Given the description of an element on the screen output the (x, y) to click on. 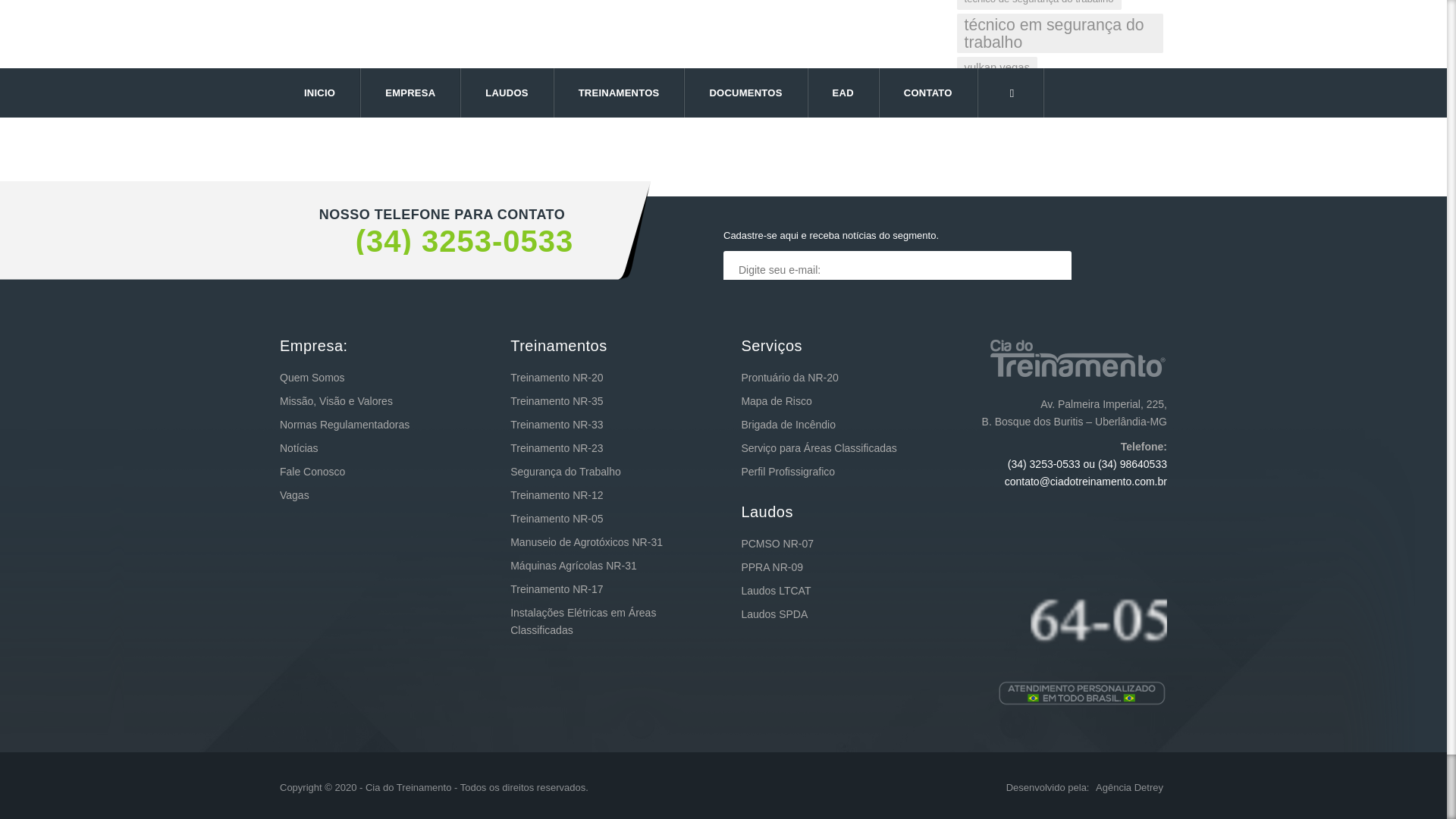
Sign Up (777, 307)
